Given the description of an element on the screen output the (x, y) to click on. 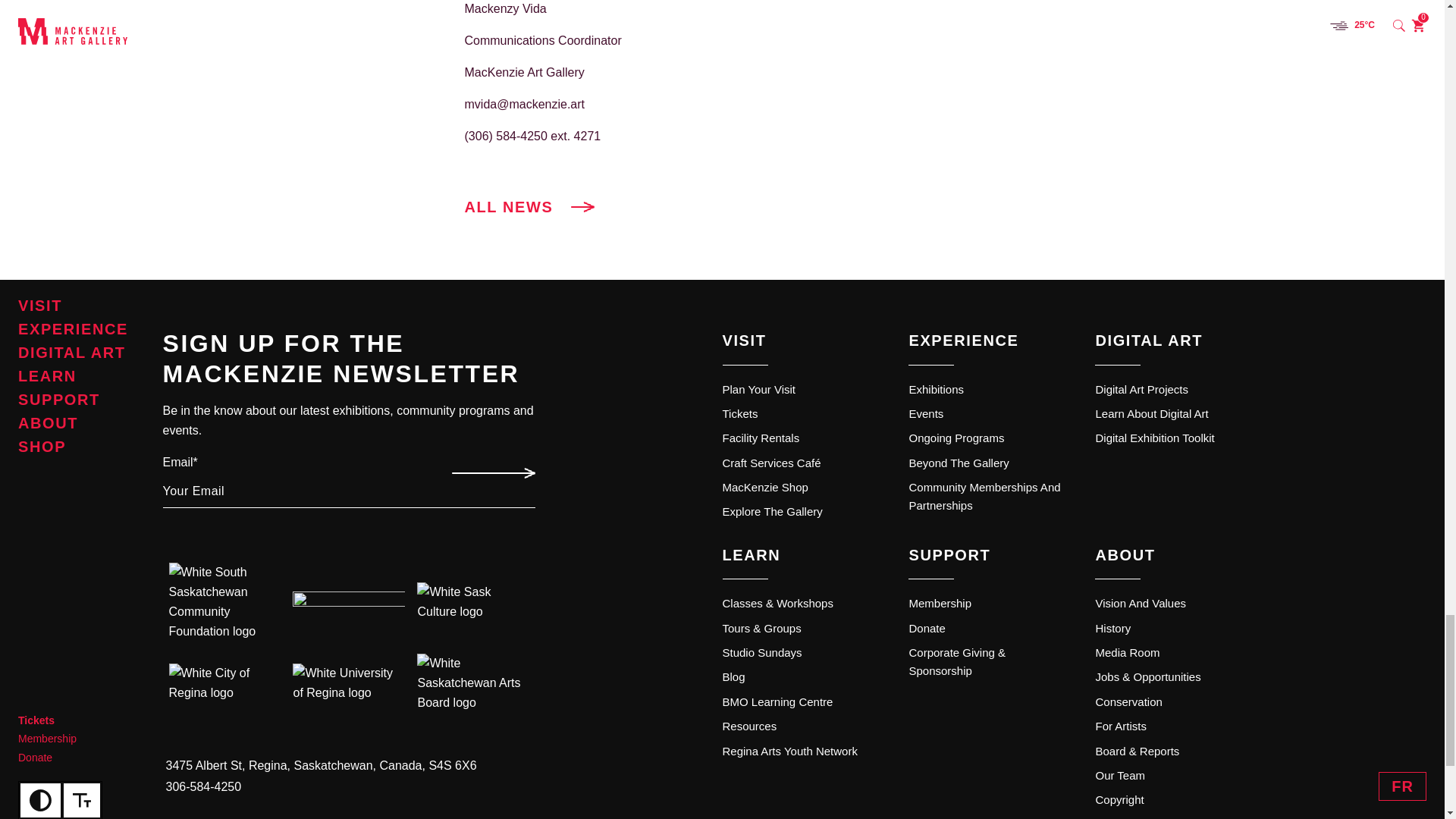
Submit (491, 472)
